Given the description of an element on the screen output the (x, y) to click on. 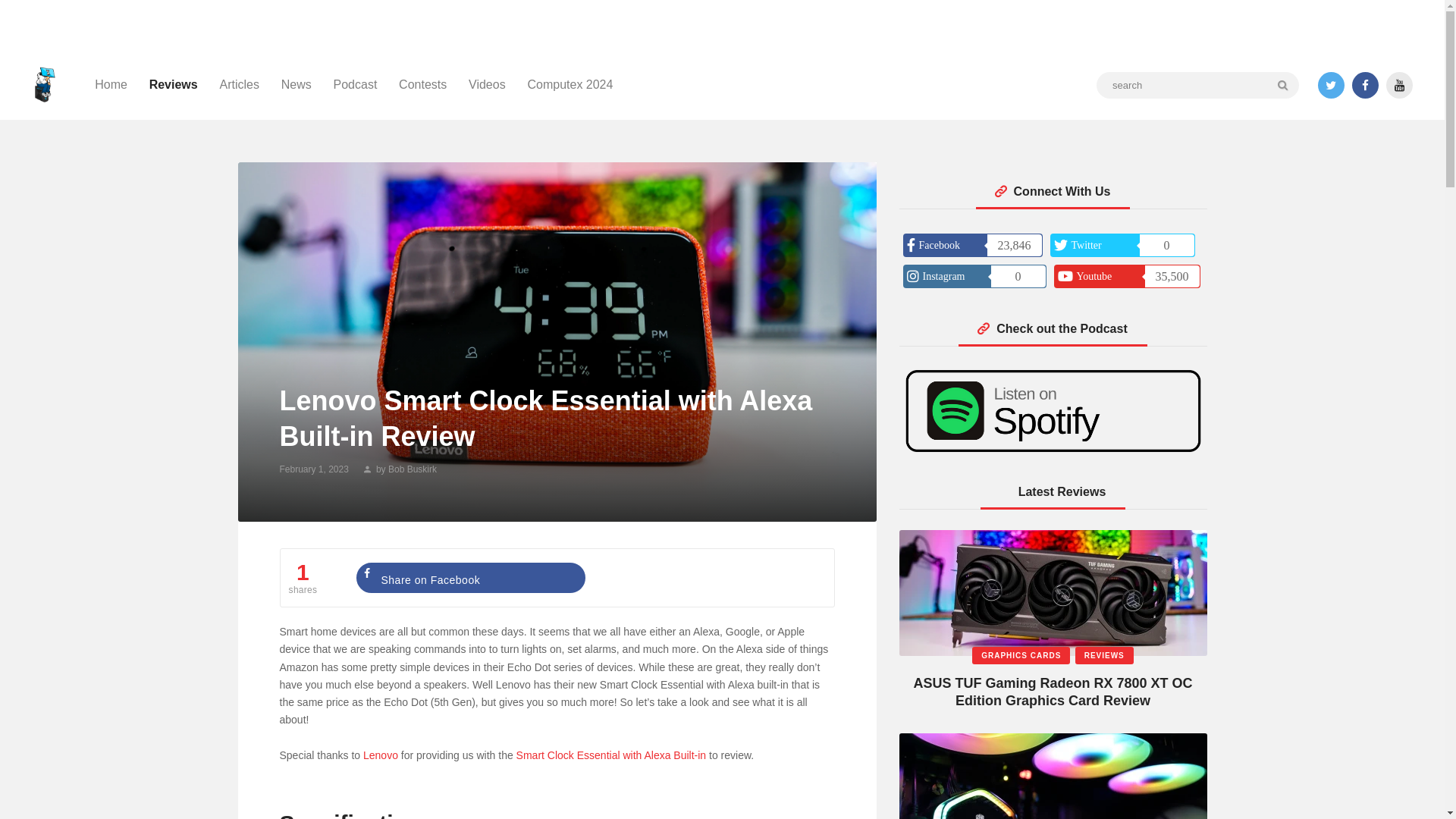
Reviews (173, 85)
Share on X (703, 577)
Home (111, 85)
Articles (238, 85)
News (295, 85)
Share on Facebook (470, 577)
